Given the description of an element on the screen output the (x, y) to click on. 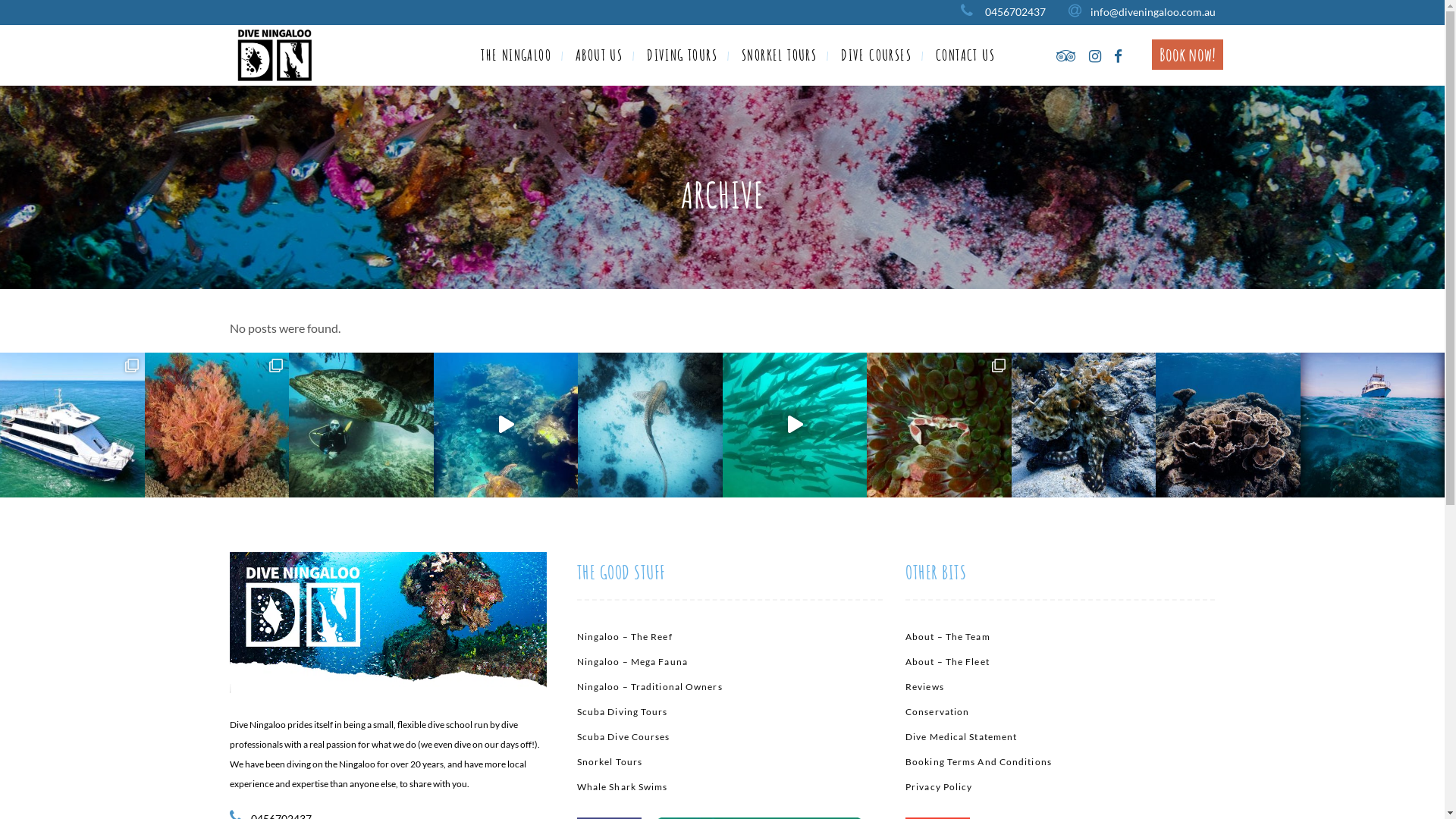
SNORKEL TOURS Element type: text (779, 55)
Scuba Diving Tours Element type: text (729, 711)
Privacy Policy Element type: text (1059, 787)
Reviews Element type: text (1059, 686)
Conservation Element type: text (1059, 711)
ABOUT US Element type: text (598, 55)
Scuba Dive Courses Element type: text (729, 737)
Snorkel Tours Element type: text (729, 761)
DIVE COURSES Element type: text (875, 55)
Book now! Element type: text (1187, 54)
THE NINGALOO Element type: text (515, 55)
CONTACT US Element type: text (965, 55)
DIVING TOURS Element type: text (681, 55)
Dive Medical Statement Element type: text (1059, 737)
Whale Shark Swims Element type: text (729, 787)
Booking Terms And Conditions Element type: text (1059, 761)
